Given the description of an element on the screen output the (x, y) to click on. 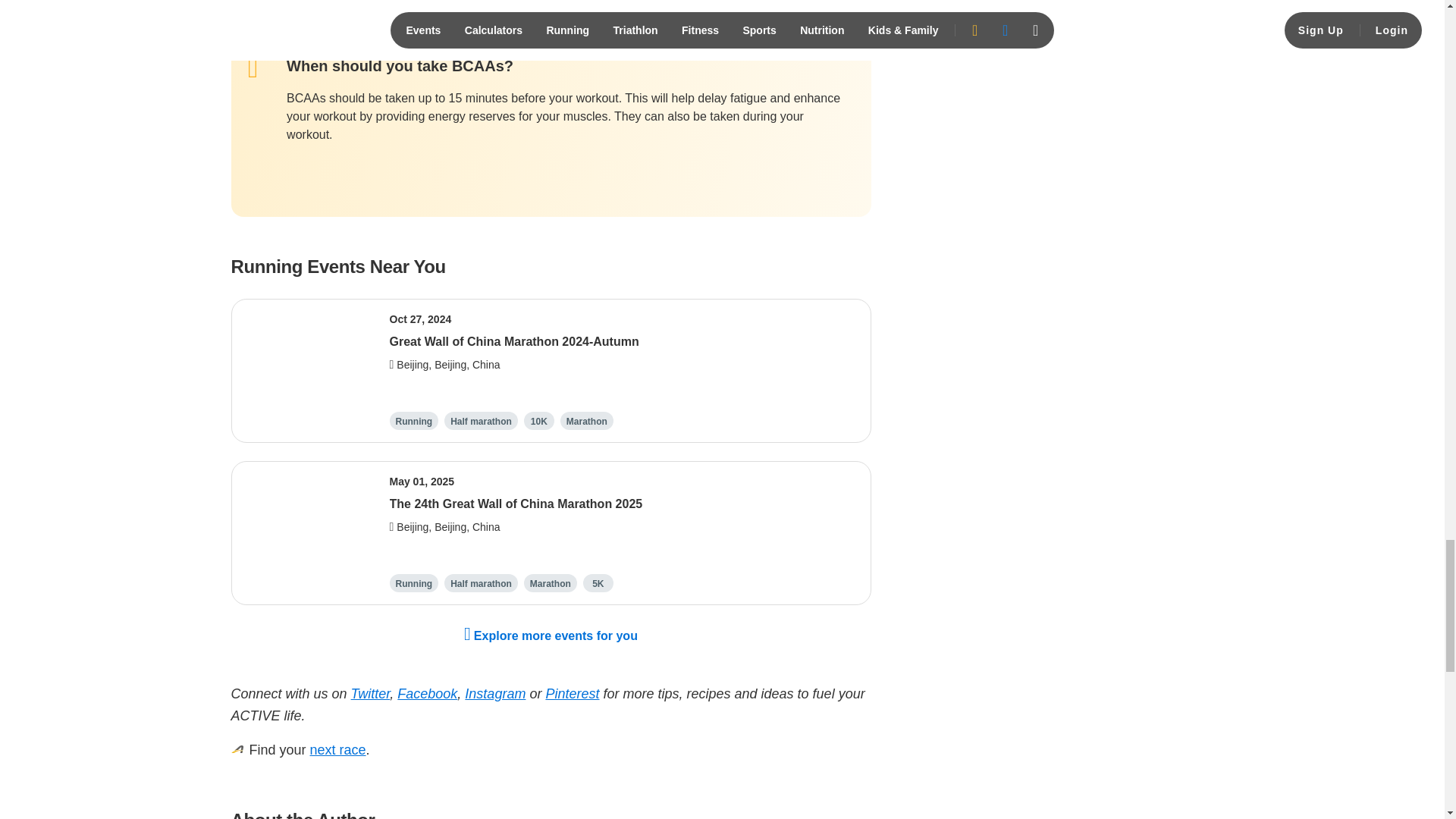
Running (414, 582)
Half marathon (480, 582)
10K (538, 420)
Marathon (549, 582)
The 24th Great Wall of China Marathon 2025 (516, 503)
Half marathon (480, 420)
Running (414, 420)
5K (598, 582)
Great Wall of China Marathon 2024-Autumn (514, 341)
Marathon (586, 420)
